Given the description of an element on the screen output the (x, y) to click on. 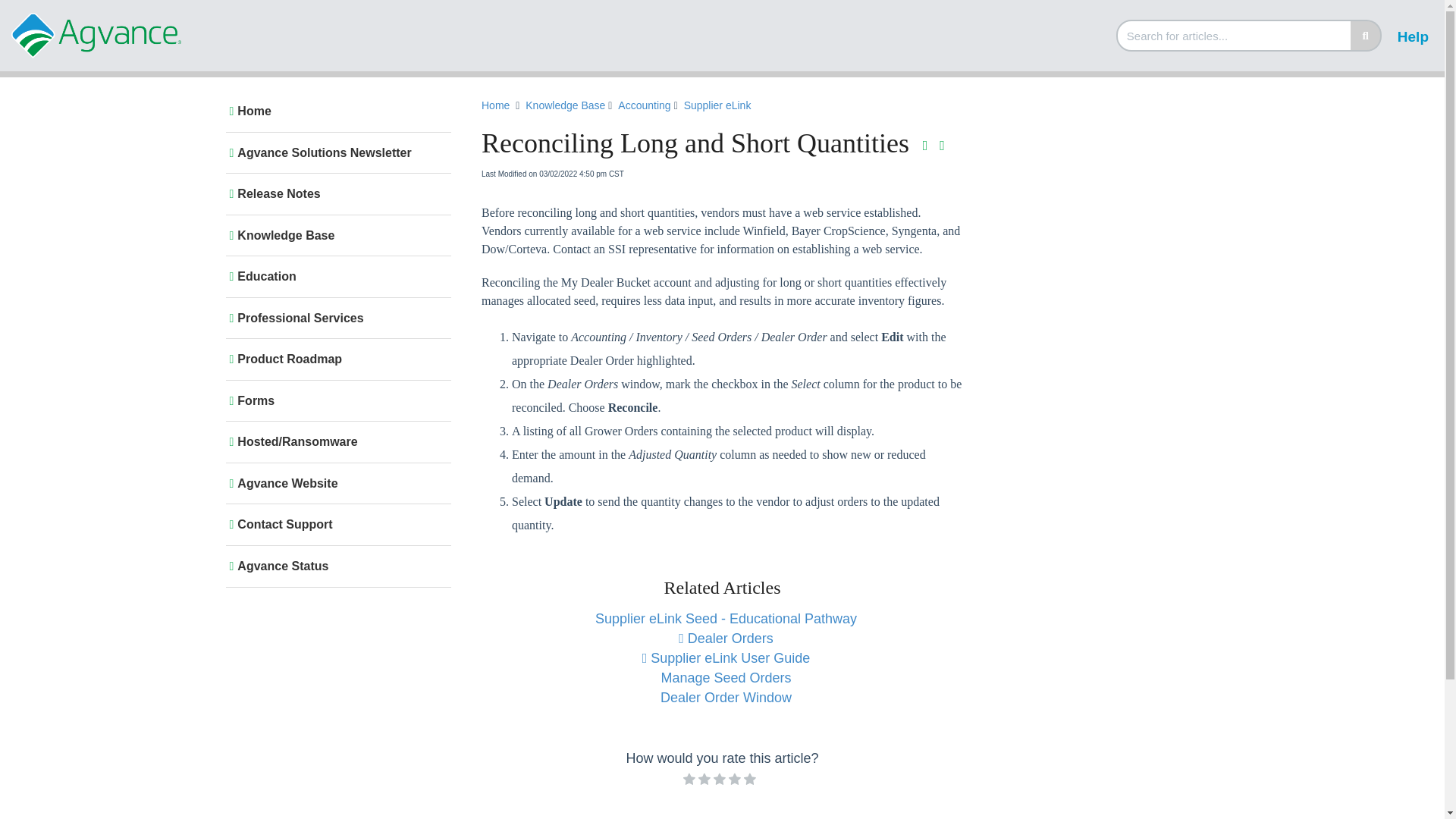
Accounting (643, 105)
Knowledge Base (566, 105)
Product Roadmap (334, 359)
Forms (334, 401)
Search (1365, 35)
Agvance Website (334, 483)
Download PDF (925, 145)
Agvance Solutions Newsletter (334, 153)
Search (1235, 35)
Contact Support (334, 524)
Education (334, 276)
Release Notes (334, 193)
Knowledge Base (334, 235)
Home (334, 111)
Accounting (644, 105)
